Given the description of an element on the screen output the (x, y) to click on. 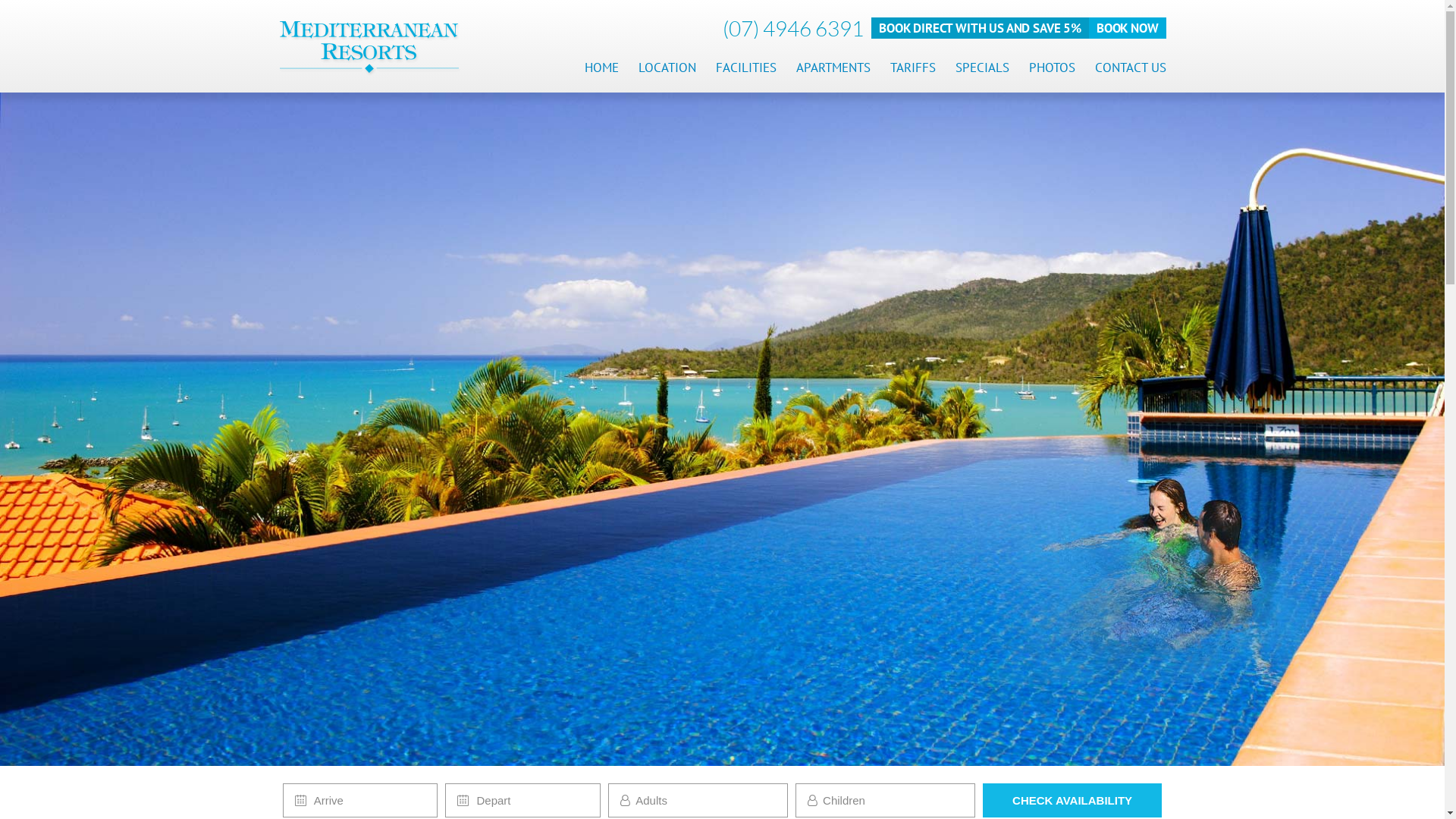
LOCATION Element type: text (667, 67)
FACILITIES Element type: text (745, 67)
CONTACT US Element type: text (1130, 67)
APARTMENTS Element type: text (833, 67)
PHOTOS Element type: text (1051, 67)
SPECIALS Element type: text (982, 67)
TARIFFS Element type: text (912, 67)
BOOK NOW Element type: text (1127, 27)
HOME Element type: text (600, 67)
Check Availability Element type: text (1072, 800)
(07) 4946 6391 Element type: text (792, 27)
